Given the description of an element on the screen output the (x, y) to click on. 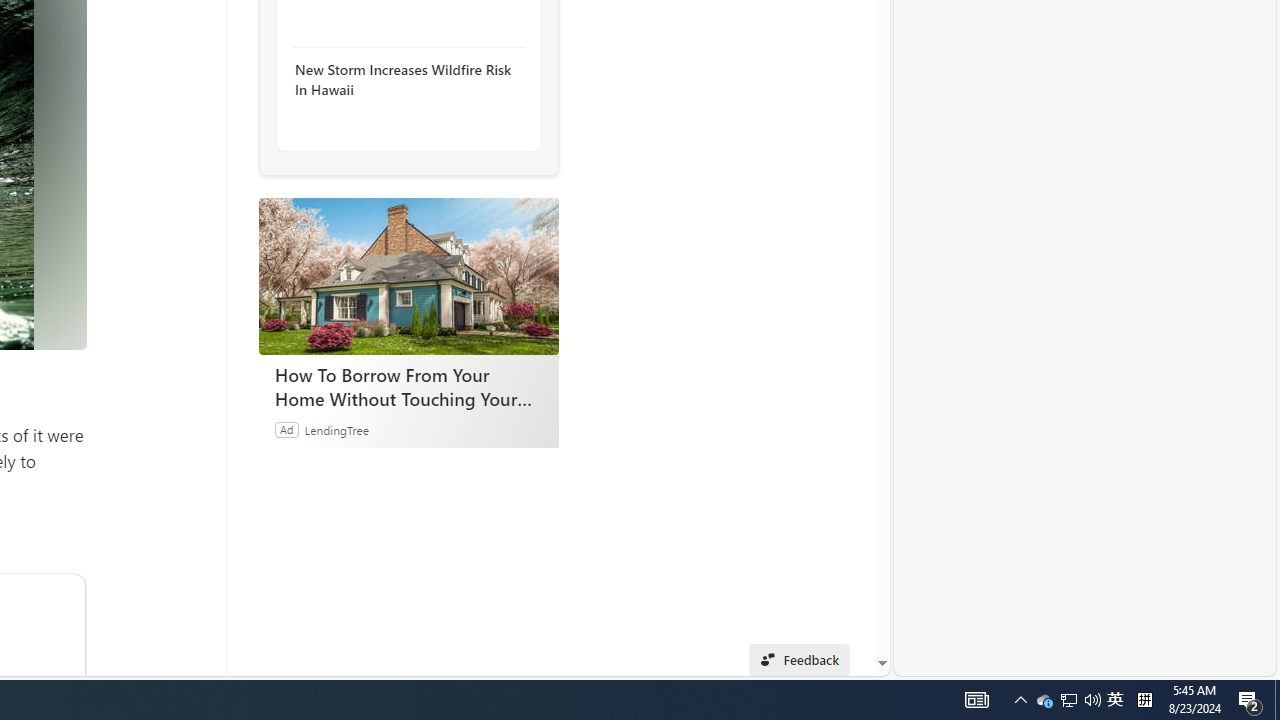
LendingTree (336, 429)
New Storm Increases Wildfire Risk In Hawaii (403, 79)
